Given the description of an element on the screen output the (x, y) to click on. 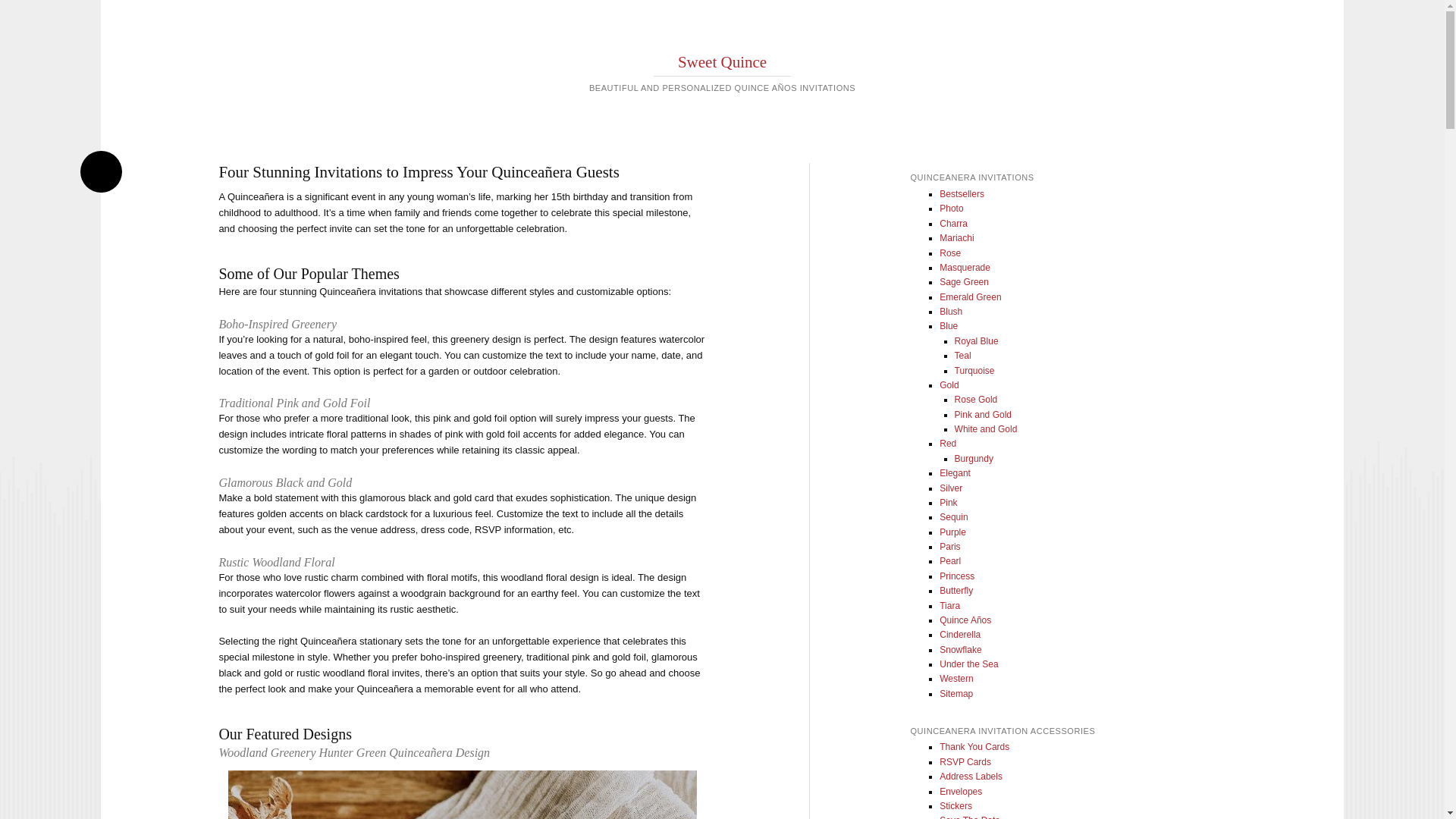
Blue (948, 326)
Royal Blue (976, 340)
Masquerade (964, 267)
Turquoise (974, 370)
Rose (949, 252)
Sweet Quince (722, 62)
Sweet Quince (722, 62)
Charra (953, 223)
Photo (950, 208)
Emerald Green (970, 296)
